Given the description of an element on the screen output the (x, y) to click on. 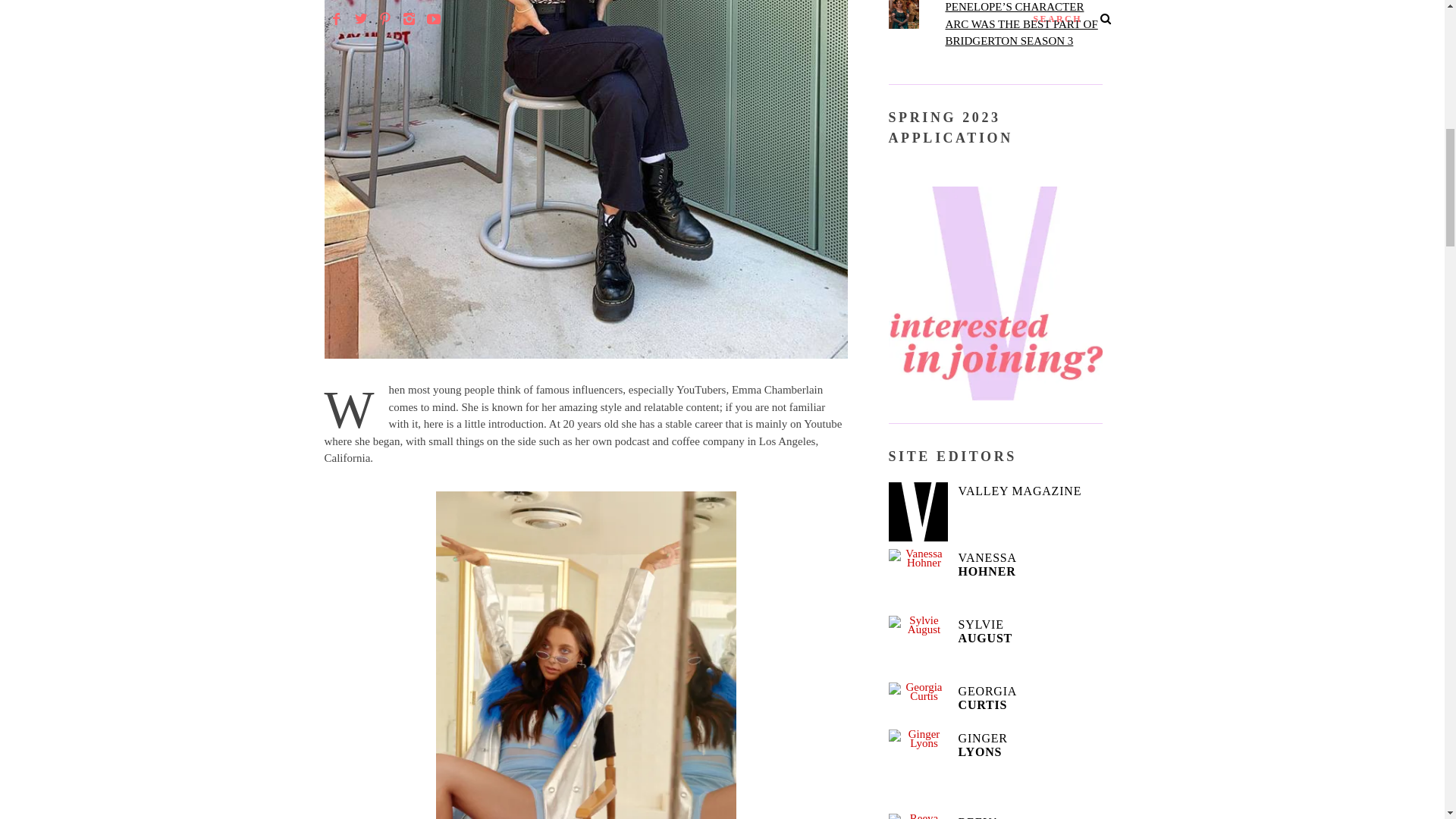
VALLEY Magazine (917, 511)
Georgia Curtis (917, 701)
Sylvie August (917, 644)
Vanessa Hohner (917, 578)
